Given the description of an element on the screen output the (x, y) to click on. 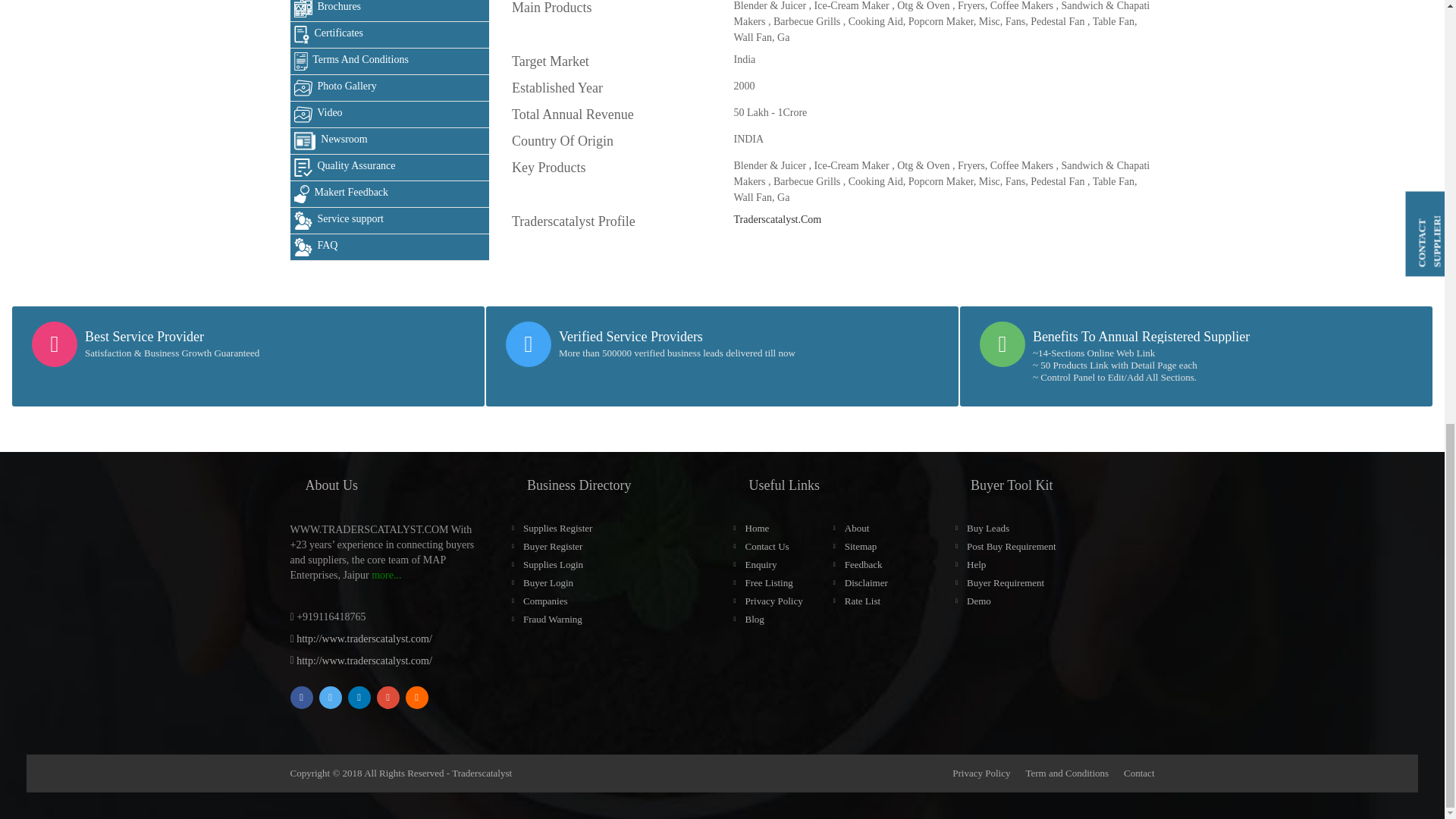
  FAQ (389, 247)
  Quality Assurance (389, 167)
  Brochures (389, 11)
  Service support (389, 221)
  Certificates (389, 35)
  Photo Gallery (389, 88)
  Video (389, 114)
  Newsroom (389, 140)
  Makert Feedback (389, 194)
  Terms And Conditions (389, 61)
